Given the description of an element on the screen output the (x, y) to click on. 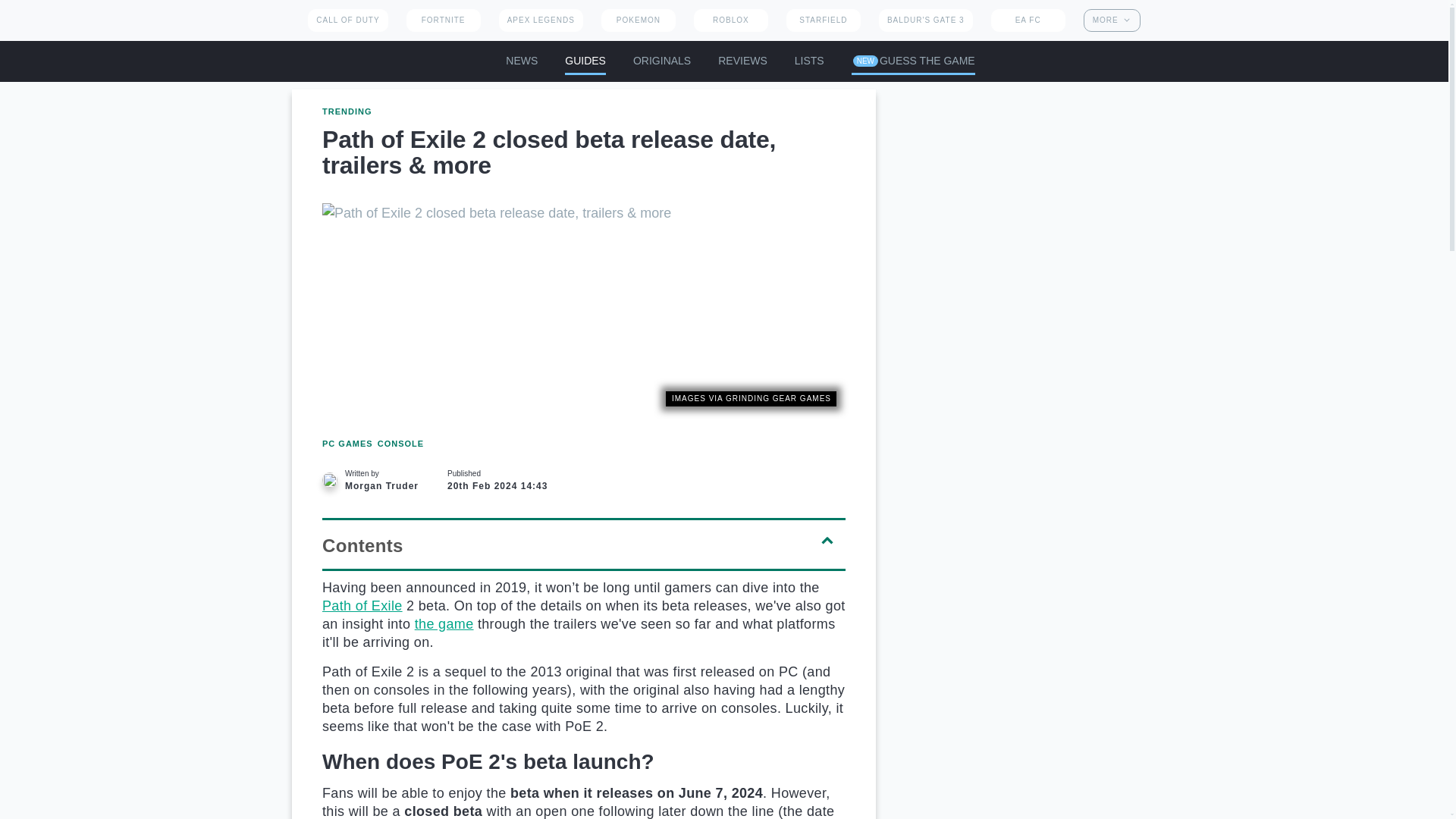
ROBLOX (731, 20)
Trending (362, 605)
STARFIELD (823, 20)
authorlink (370, 479)
FORTNITE (443, 20)
APEX LEGENDS (541, 20)
BALDUR'S GATE 3 (925, 20)
Morgan Truder (329, 479)
POKEMON (638, 20)
CALL OF DUTY (347, 20)
